Given the description of an element on the screen output the (x, y) to click on. 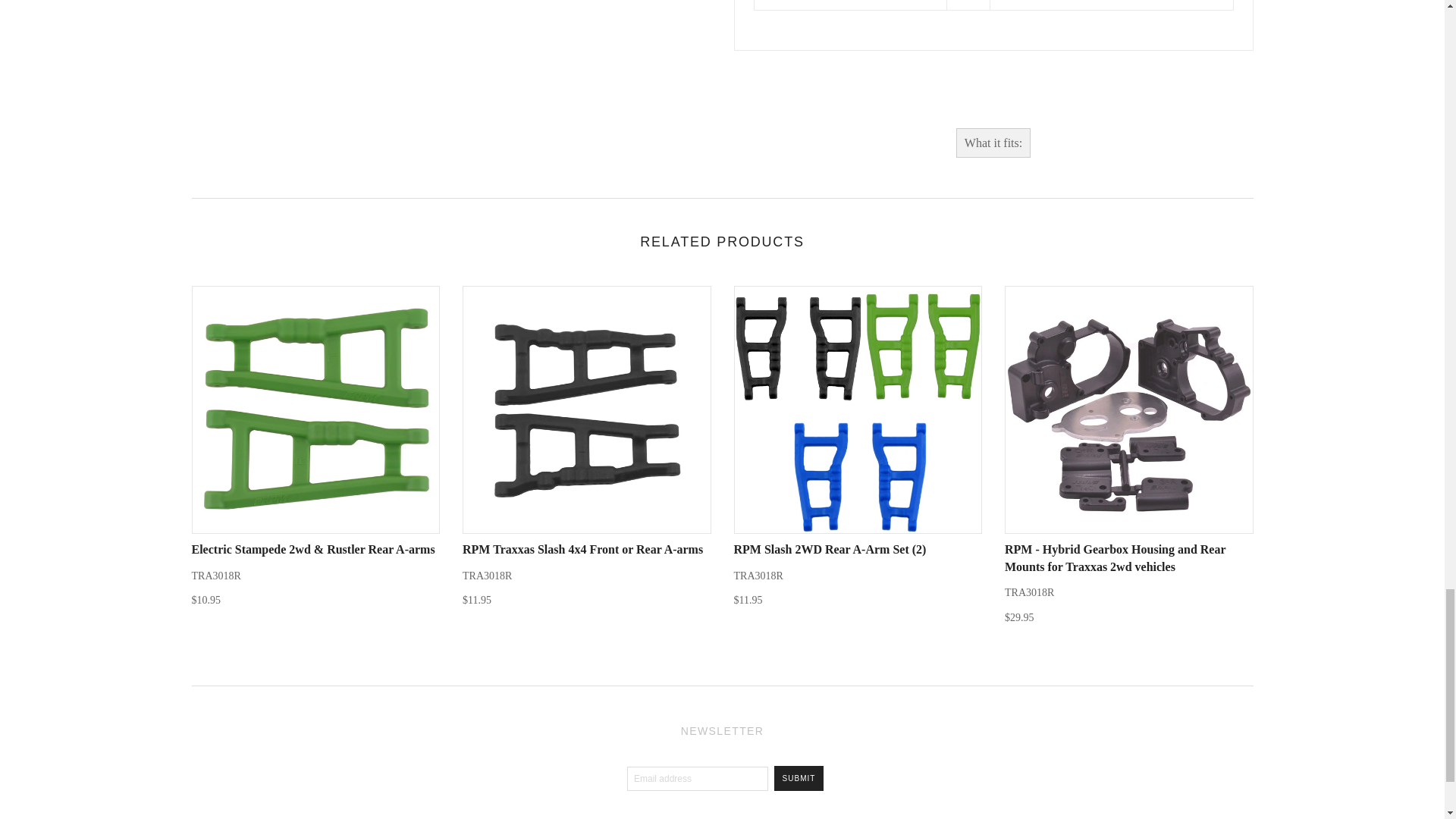
Submit (799, 778)
